Given the description of an element on the screen output the (x, y) to click on. 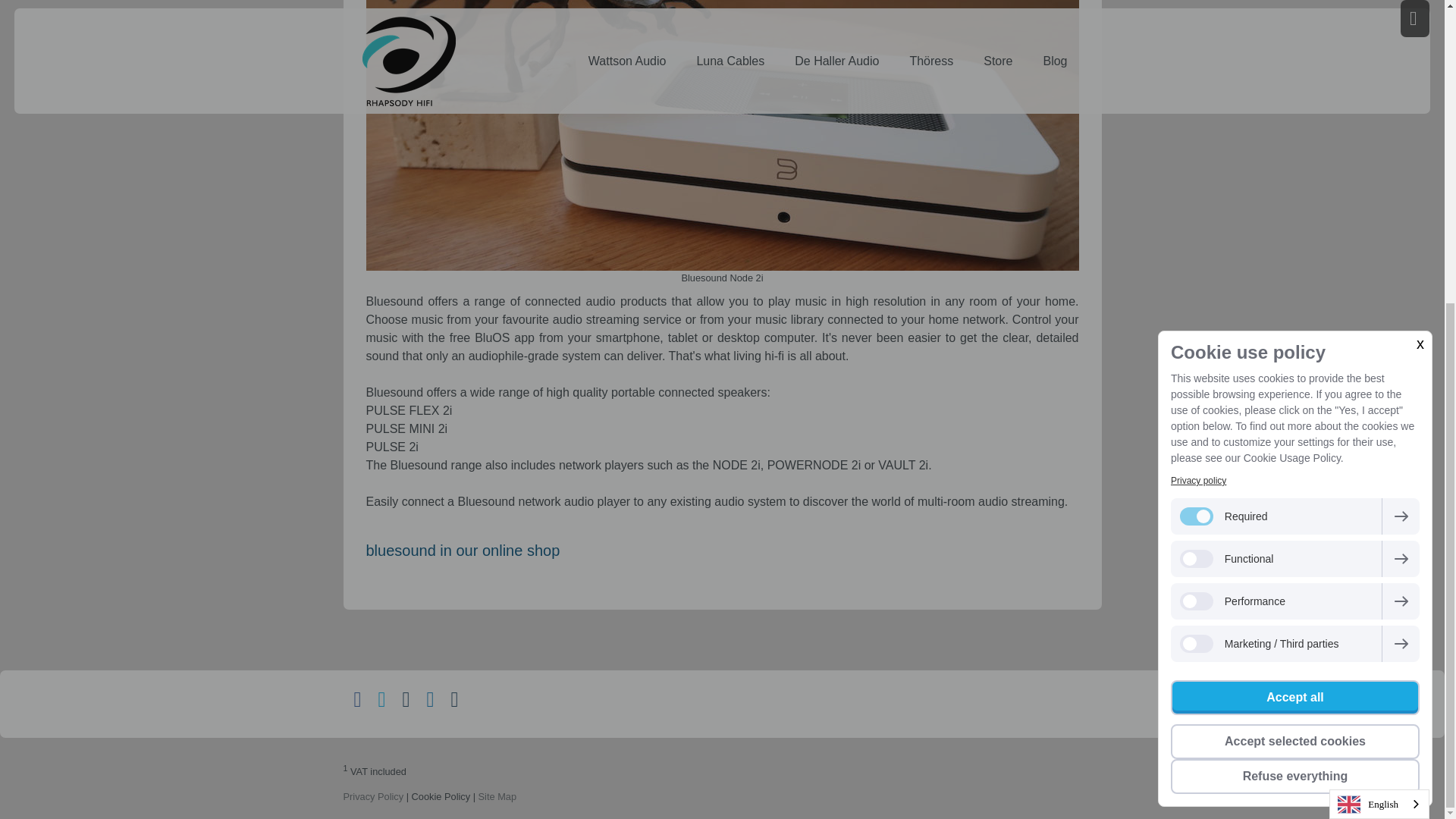
Twitter (382, 699)
Tumblr (454, 699)
LinkedIn (430, 699)
E-mail (406, 699)
Facebook (357, 699)
